Given the description of an element on the screen output the (x, y) to click on. 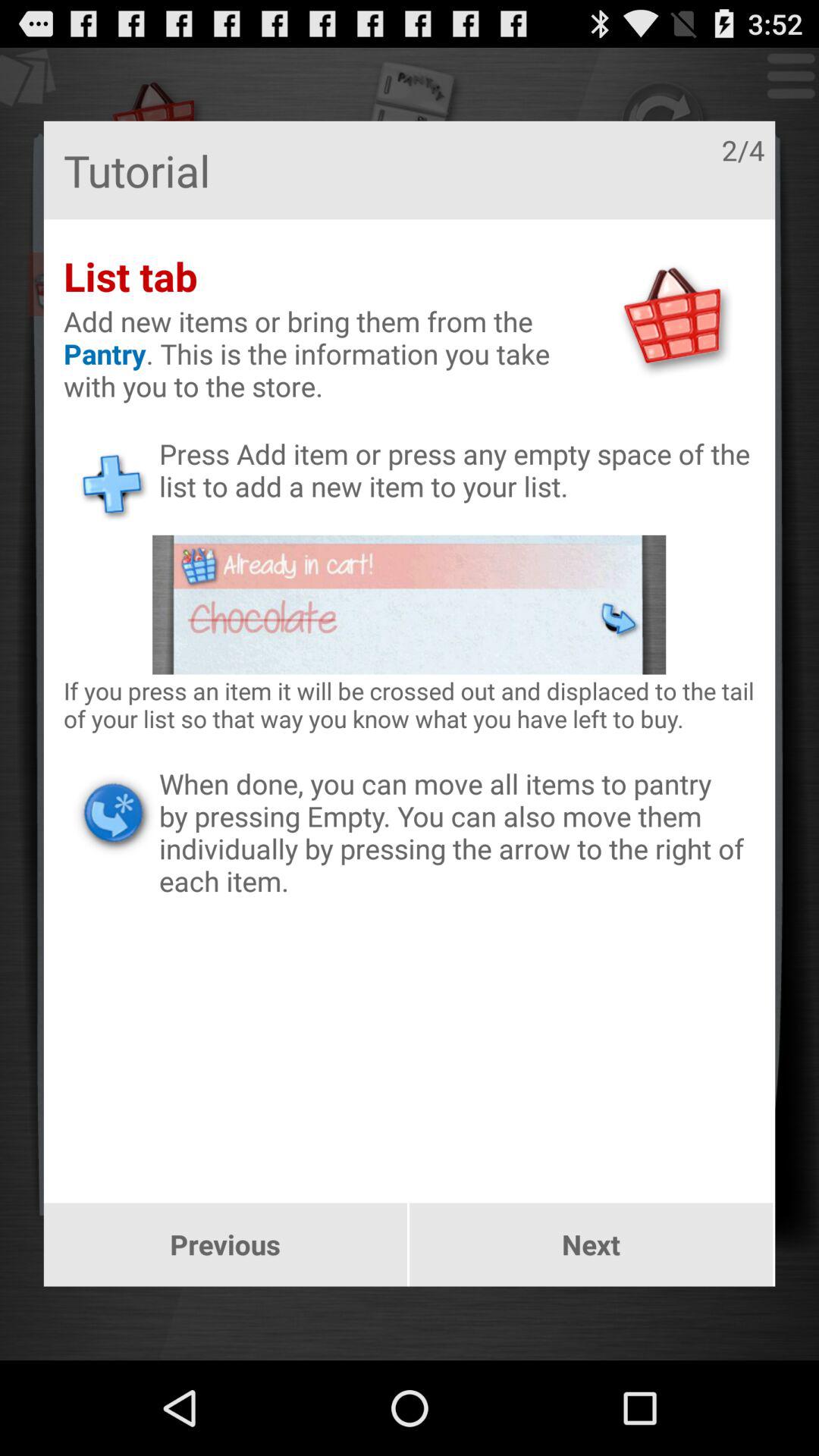
press next icon (590, 1244)
